Given the description of an element on the screen output the (x, y) to click on. 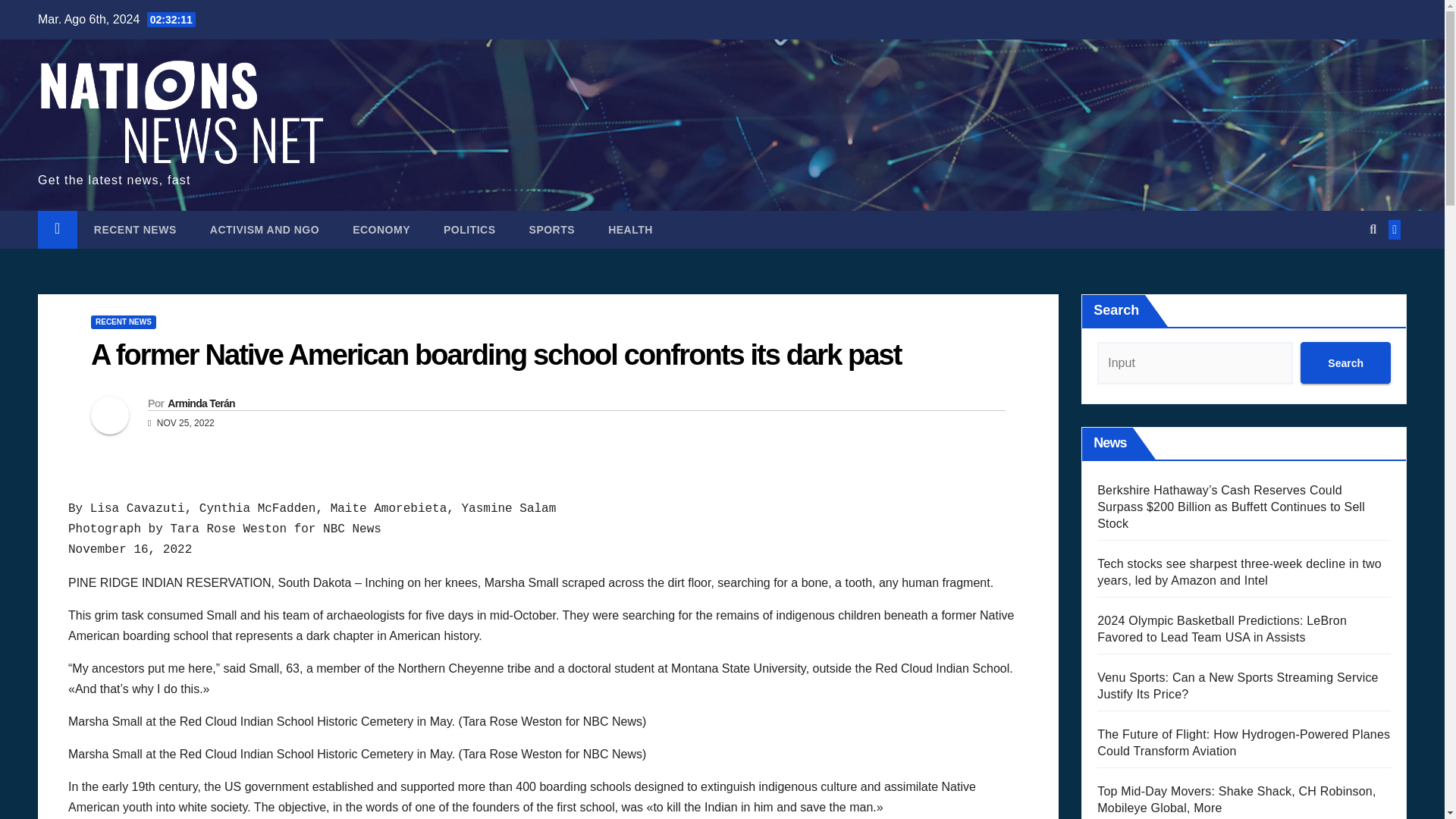
Activism and NGO (264, 229)
Politics (469, 229)
RECENT NEWS (135, 229)
POLITICS (469, 229)
ACTIVISM AND NGO (264, 229)
Recent news (135, 229)
Sports (552, 229)
RECENT NEWS (122, 322)
ECONOMY (381, 229)
SPORTS (552, 229)
HEALTH (630, 229)
Health (630, 229)
Economy (381, 229)
